Given the description of an element on the screen output the (x, y) to click on. 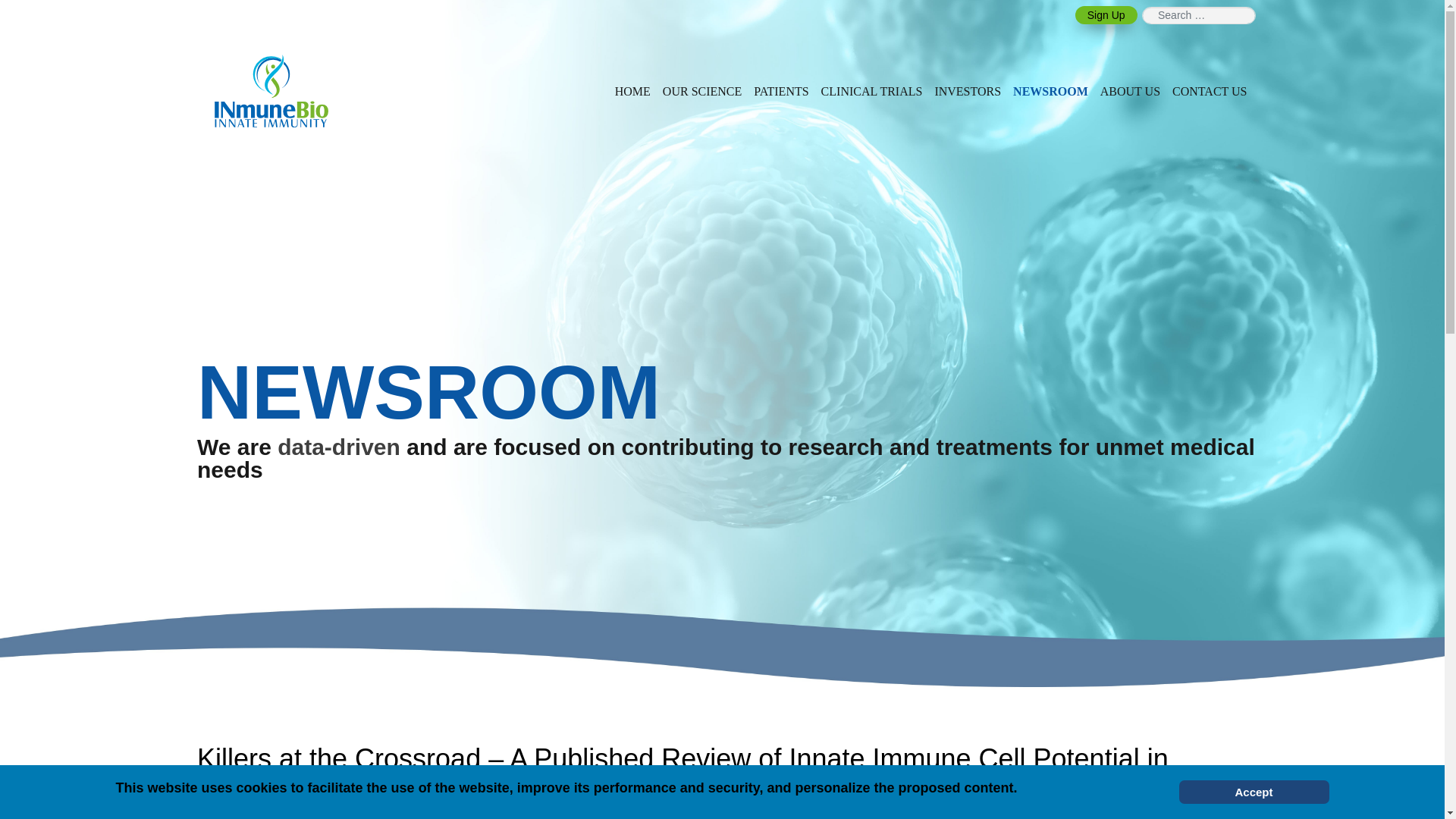
CONTACT US (1209, 90)
NEWSROOM (1050, 90)
Sign Up (1106, 15)
HOME (632, 90)
ABOUT US (1130, 90)
inmunebio (270, 90)
CLINICAL TRIALS (871, 90)
OUR SCIENCE (702, 90)
PATIENTS (780, 90)
INVESTORS (967, 90)
